Given the description of an element on the screen output the (x, y) to click on. 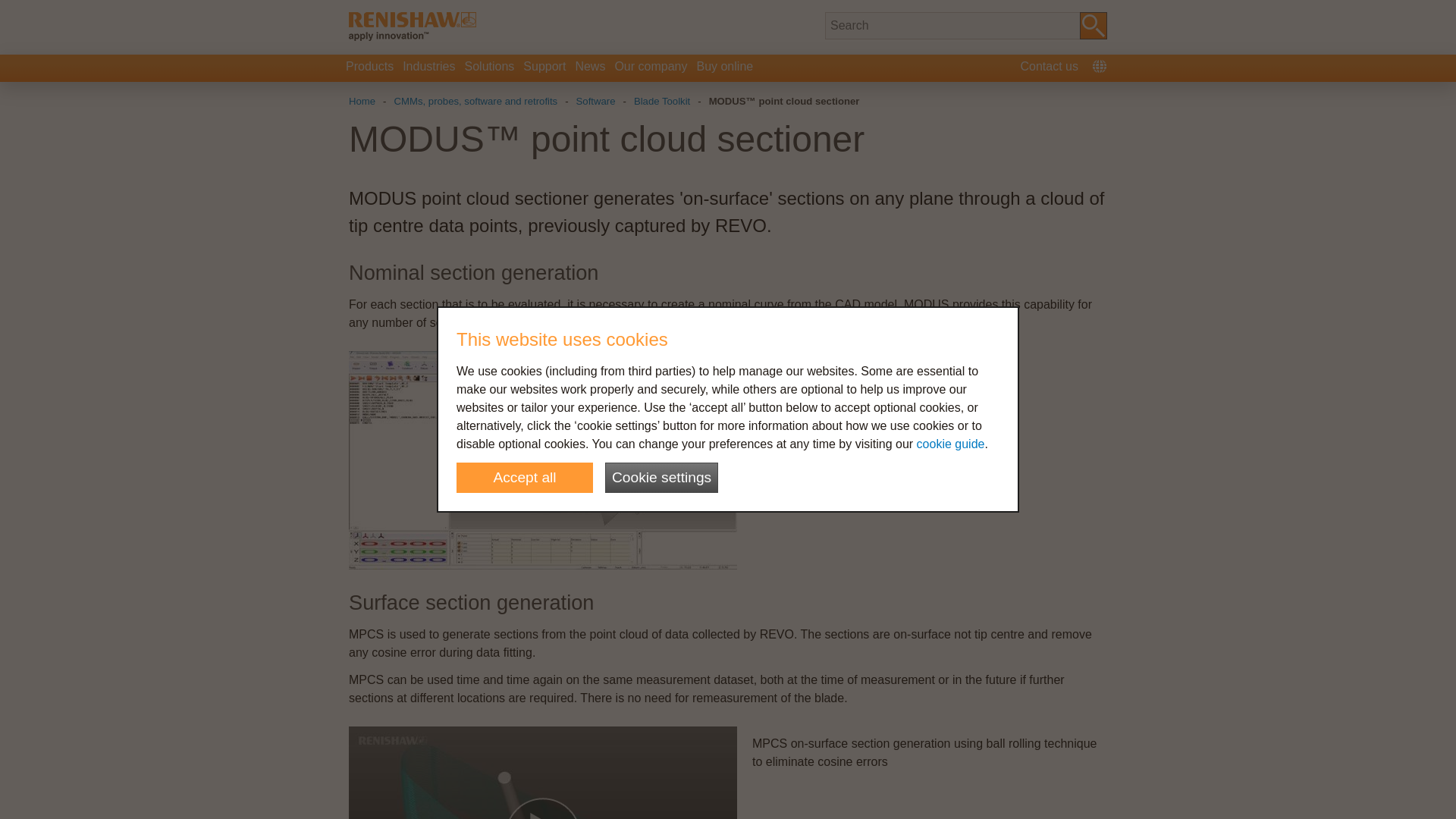
Solutions (489, 67)
MPCS on-surface section generation (542, 772)
Industries (428, 67)
MODUS nominal section generation (542, 460)
Products (368, 67)
